Given the description of an element on the screen output the (x, y) to click on. 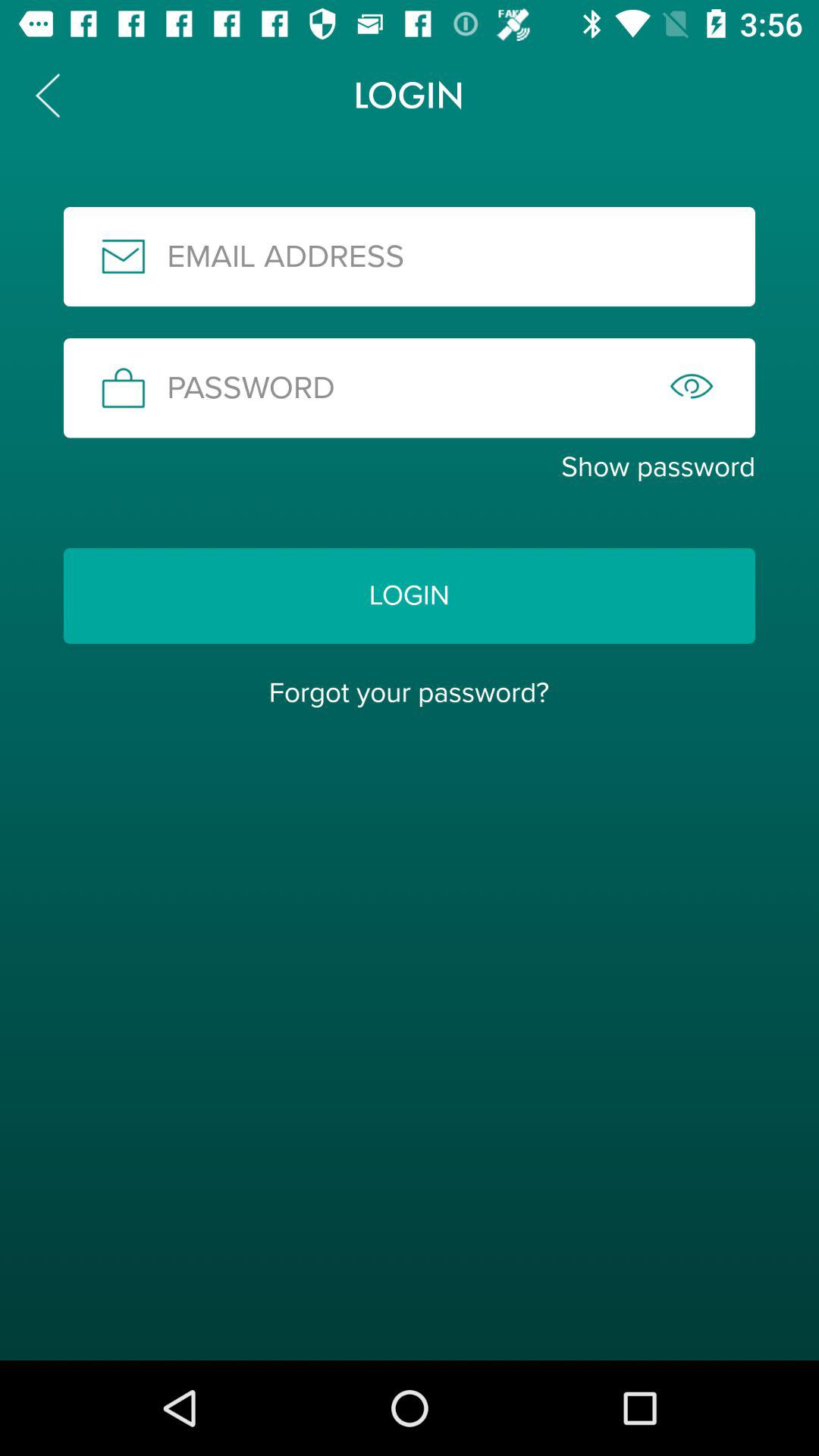
type password (409, 387)
